Given the description of an element on the screen output the (x, y) to click on. 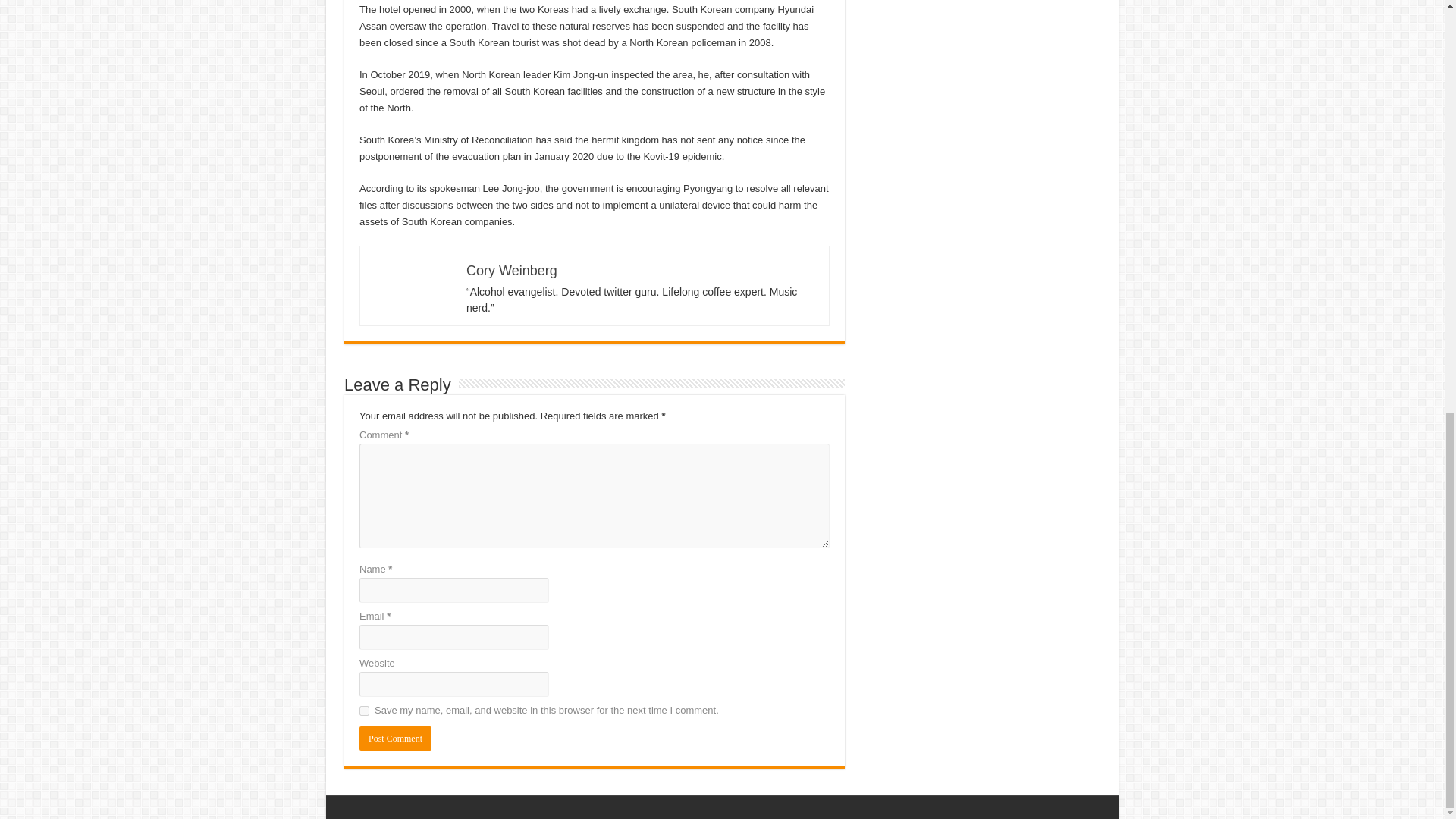
Post Comment (394, 738)
yes (364, 710)
Cory Weinberg (511, 270)
Post Comment (394, 738)
